Given the description of an element on the screen output the (x, y) to click on. 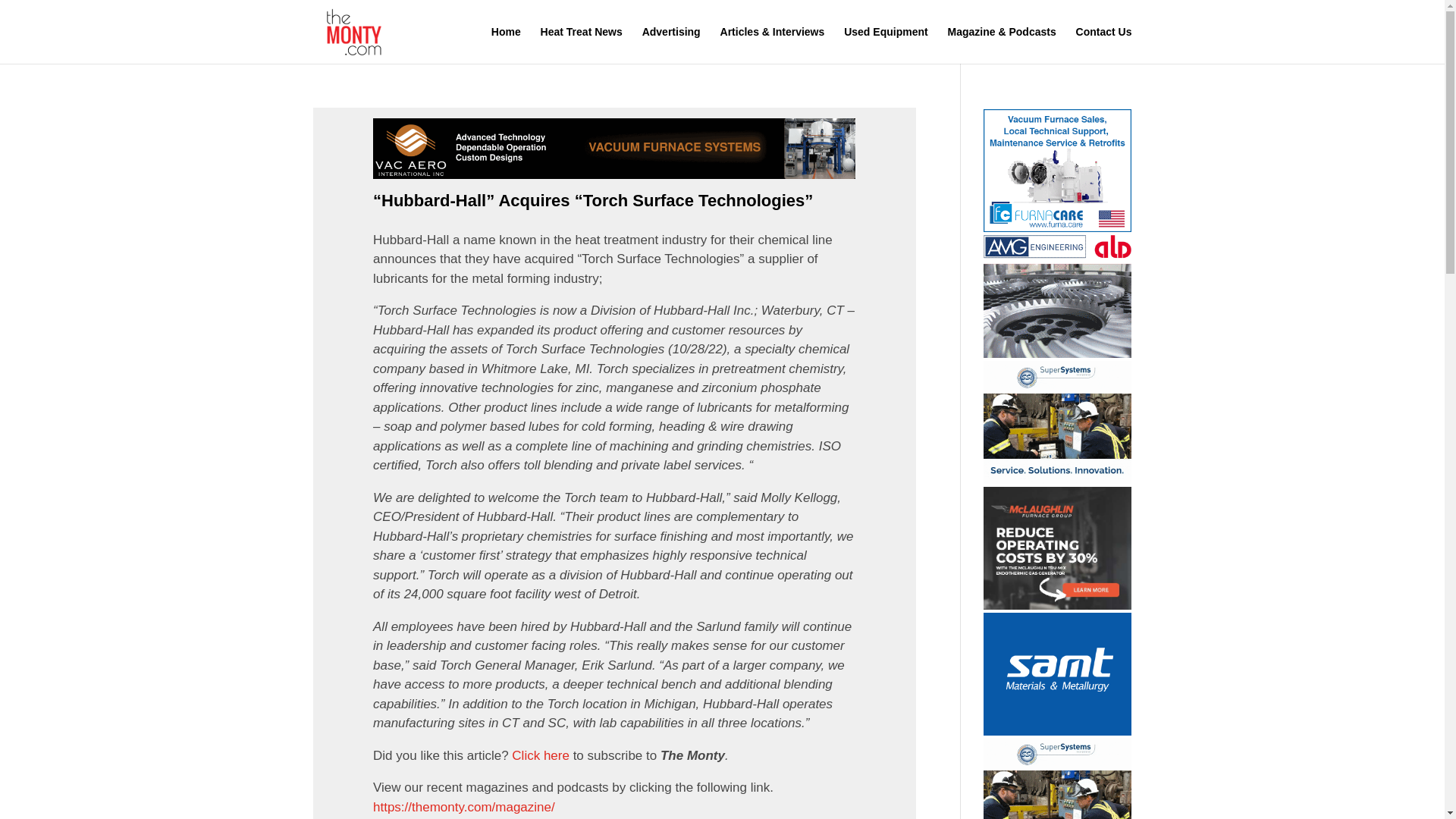
Contact Us (1103, 44)
Used Equipment (885, 44)
Heat Treat News (581, 44)
Click here (540, 755)
Advertising (671, 44)
